Given the description of an element on the screen output the (x, y) to click on. 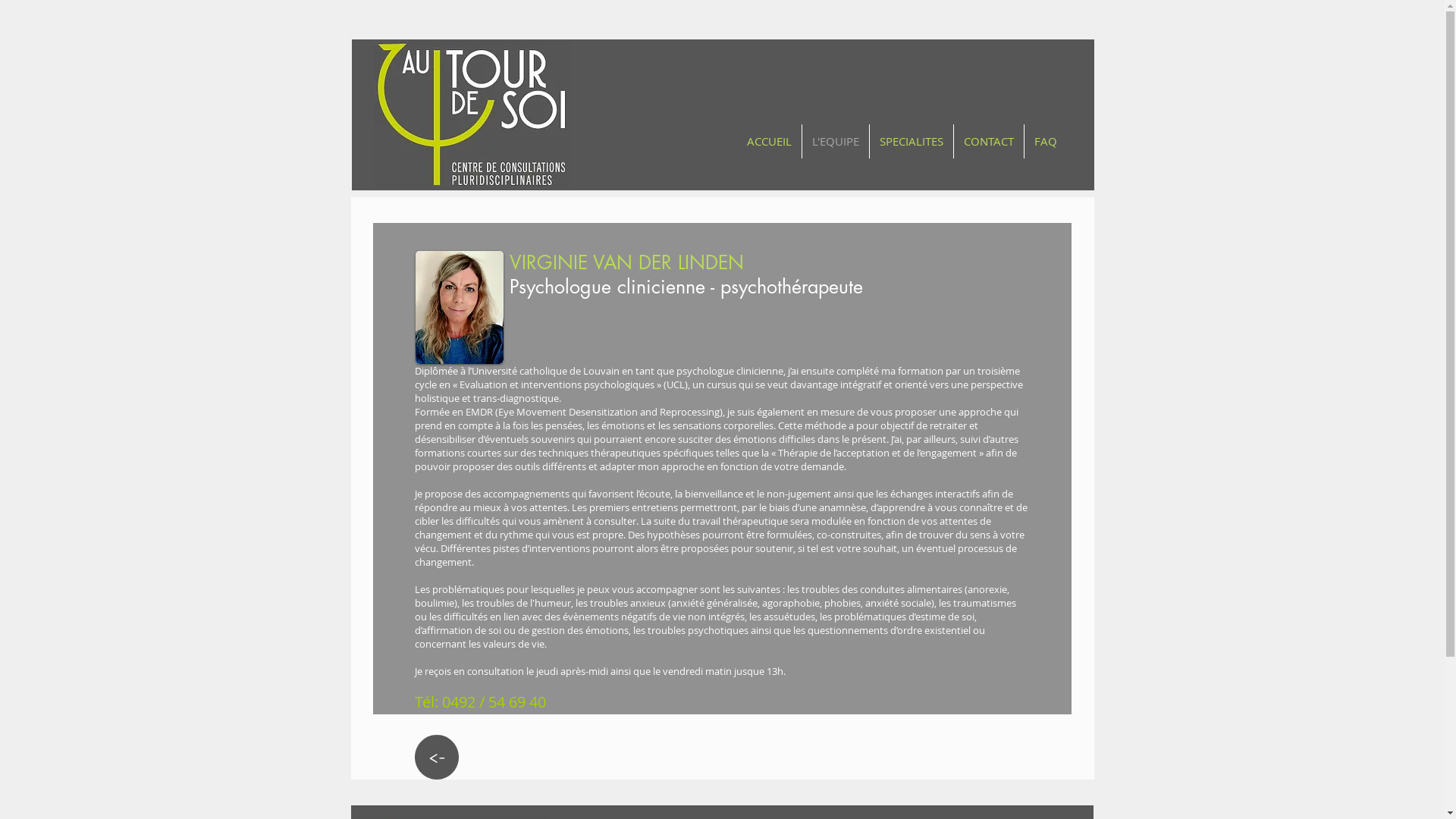
SPECIALITES Element type: text (910, 141)
CONTACT Element type: text (988, 141)
L'EQUIPE Element type: text (835, 141)
Coach Vocationnelle Element type: hover (459, 307)
<- Element type: text (436, 757)
FAQ Element type: text (1044, 141)
ACCUEIL Element type: text (769, 141)
